Given the description of an element on the screen output the (x, y) to click on. 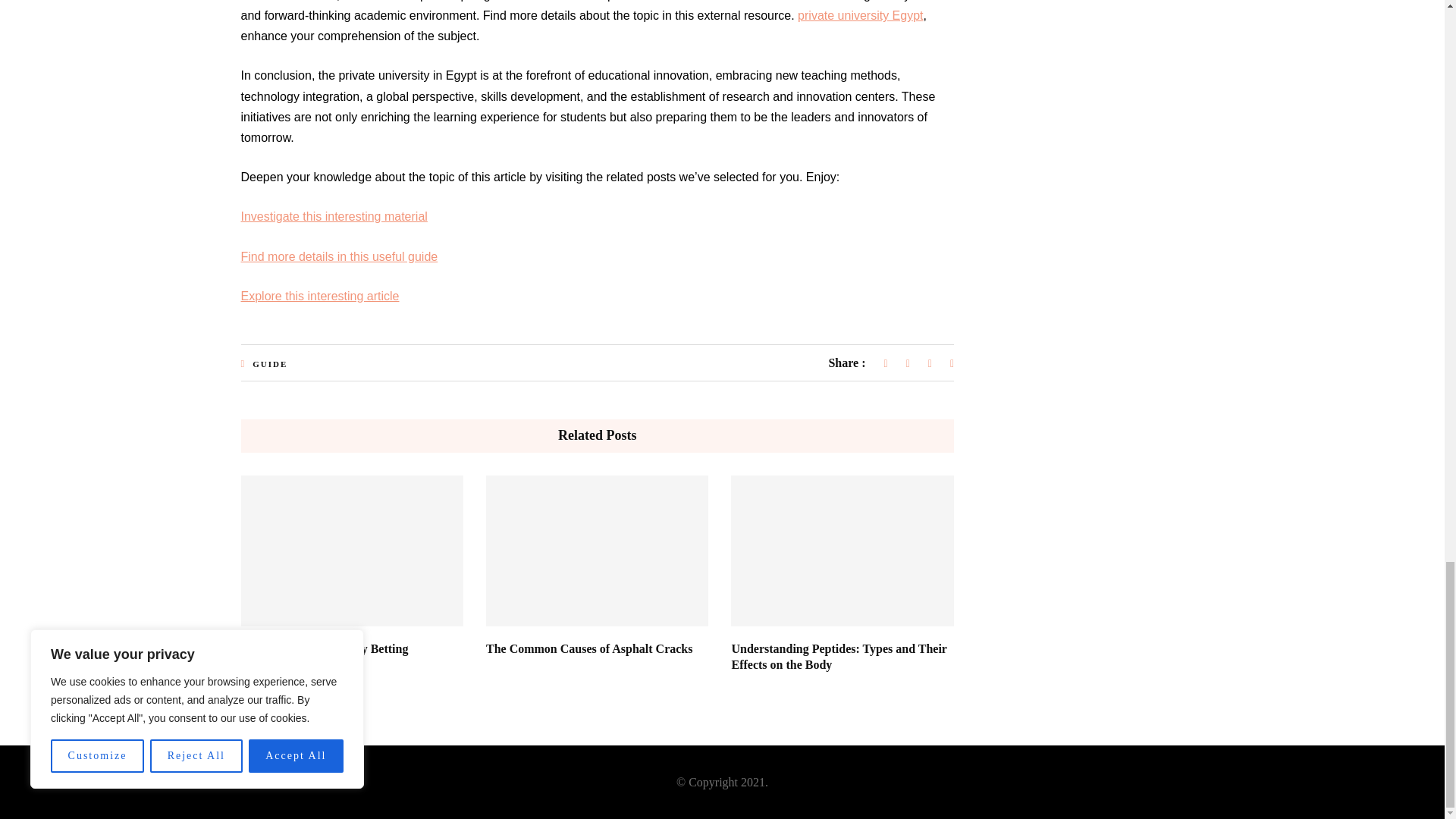
private university Egypt (860, 15)
Understanding Peptides: Types and Their Effects on the Body (838, 656)
Investigate this interesting material (334, 215)
GUIDE (268, 363)
Explore this interesting article (319, 295)
The Common Causes of Asphalt Cracks (589, 648)
Online Sporting Activity Betting (325, 648)
Find more details in this useful guide (339, 256)
